Given the description of an element on the screen output the (x, y) to click on. 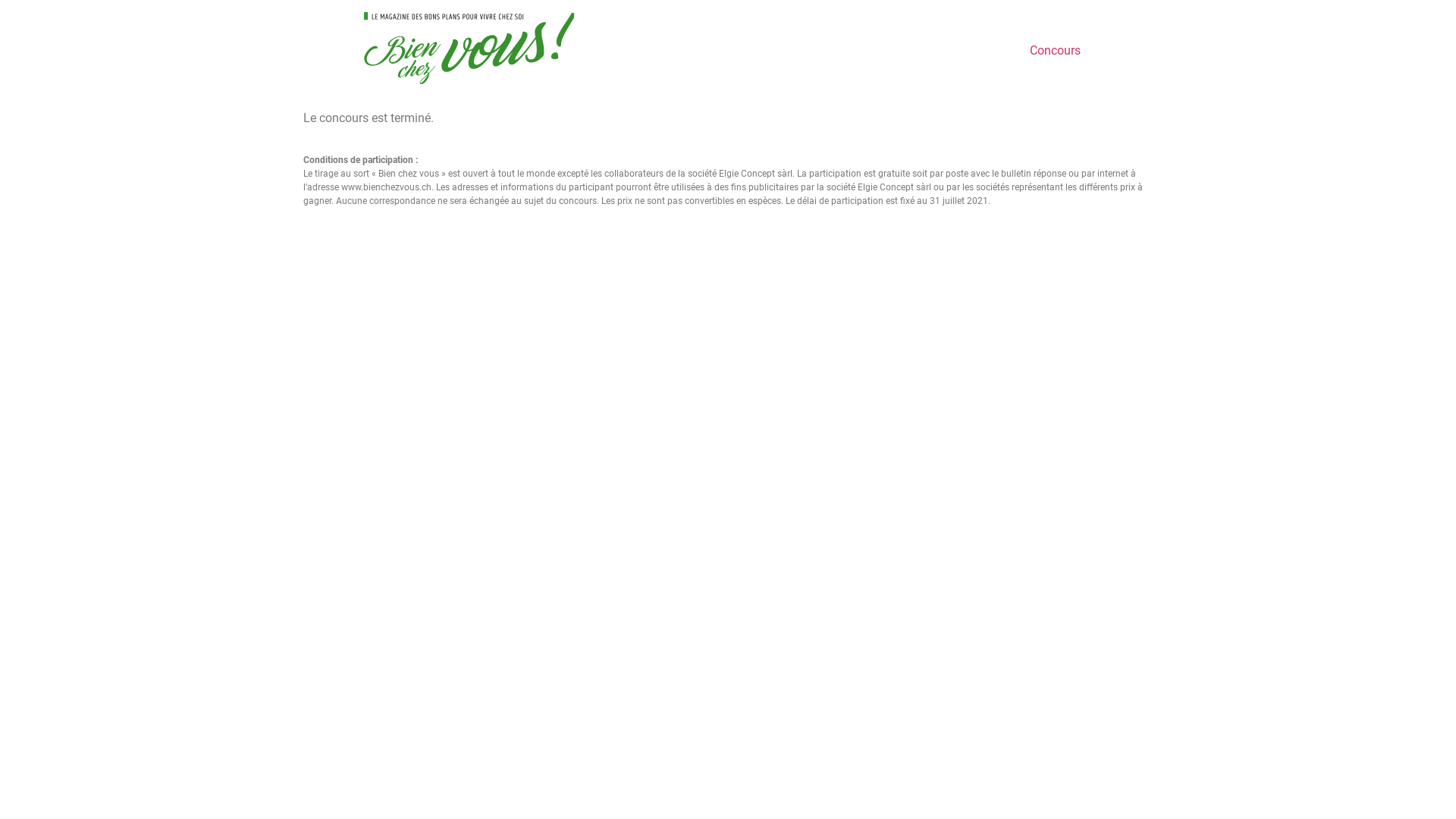
Concours Element type: text (1055, 50)
